Given the description of an element on the screen output the (x, y) to click on. 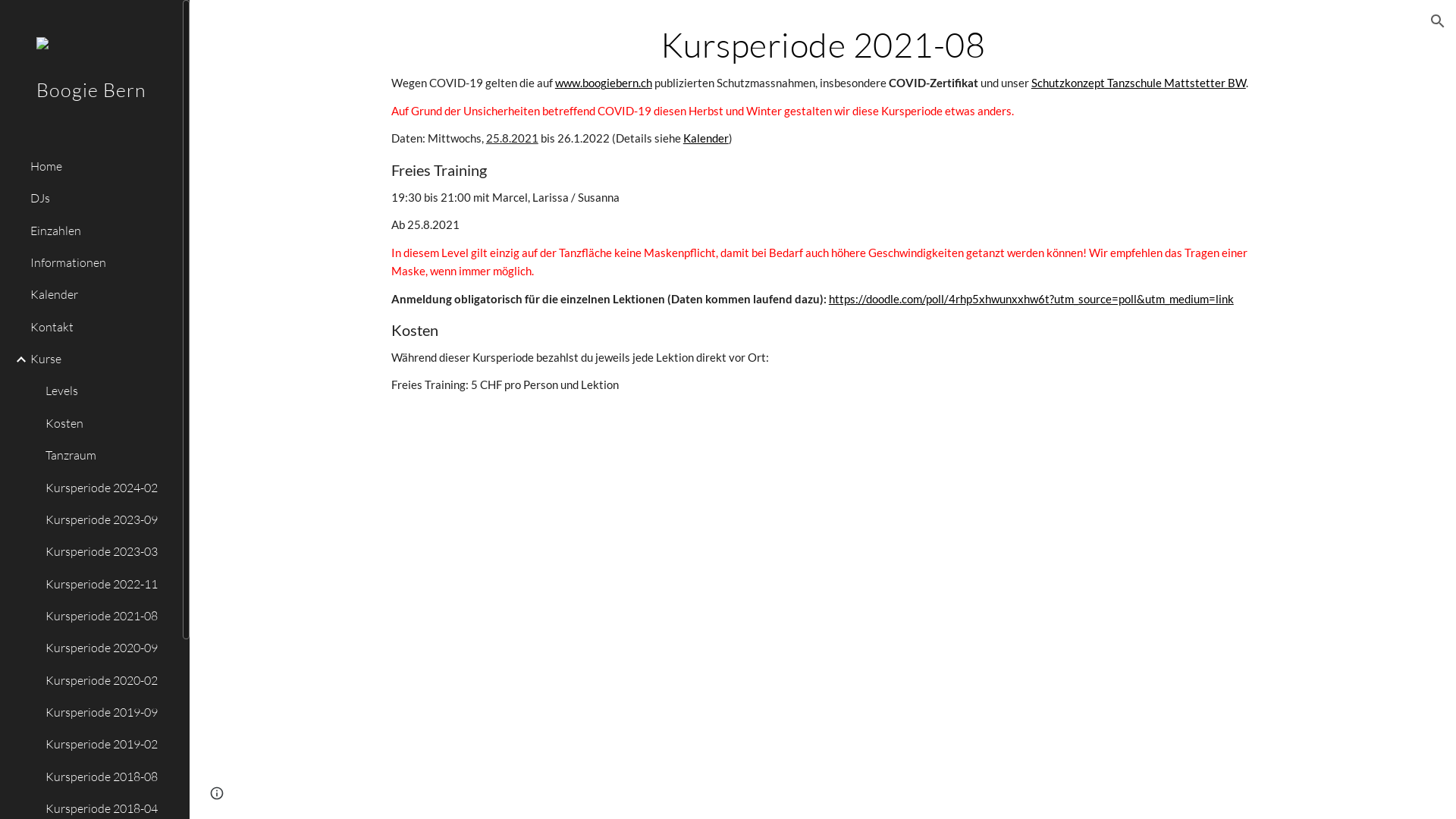
Kursperiode 2024-02 Element type: text (107, 487)
Kosten Element type: text (107, 423)
Informationen Element type: text (100, 263)
Einzahlen Element type: text (100, 230)
Kursperiode 2018-08 Element type: text (107, 776)
Kursperiode 2021-08 Element type: text (107, 615)
Kursperiode 2020-09 Element type: text (107, 648)
DJs Element type: text (100, 198)
Schutzkonzept Tanzschule Mattstetter BW Element type: text (1138, 82)
Kontakt Element type: text (100, 326)
Boogie Bern Element type: text (91, 109)
Kursperiode 2019-02 Element type: text (107, 744)
Levels Element type: text (107, 391)
Kursperiode 2023-09 Element type: text (107, 519)
Home Element type: text (100, 166)
Kursperiode 2019-09 Element type: text (107, 712)
Kurse Element type: text (100, 359)
Kursperiode 2022-11 Element type: text (107, 583)
Kalender Element type: text (100, 294)
Kursperiode 2020-02 Element type: text (107, 680)
Expand/Collapse Element type: hover (16, 359)
Kursperiode 2023-03 Element type: text (107, 551)
www.boogiebern.ch Element type: text (603, 82)
Tanzraum Element type: text (107, 455)
Kalender Element type: text (705, 137)
